Given the description of an element on the screen output the (x, y) to click on. 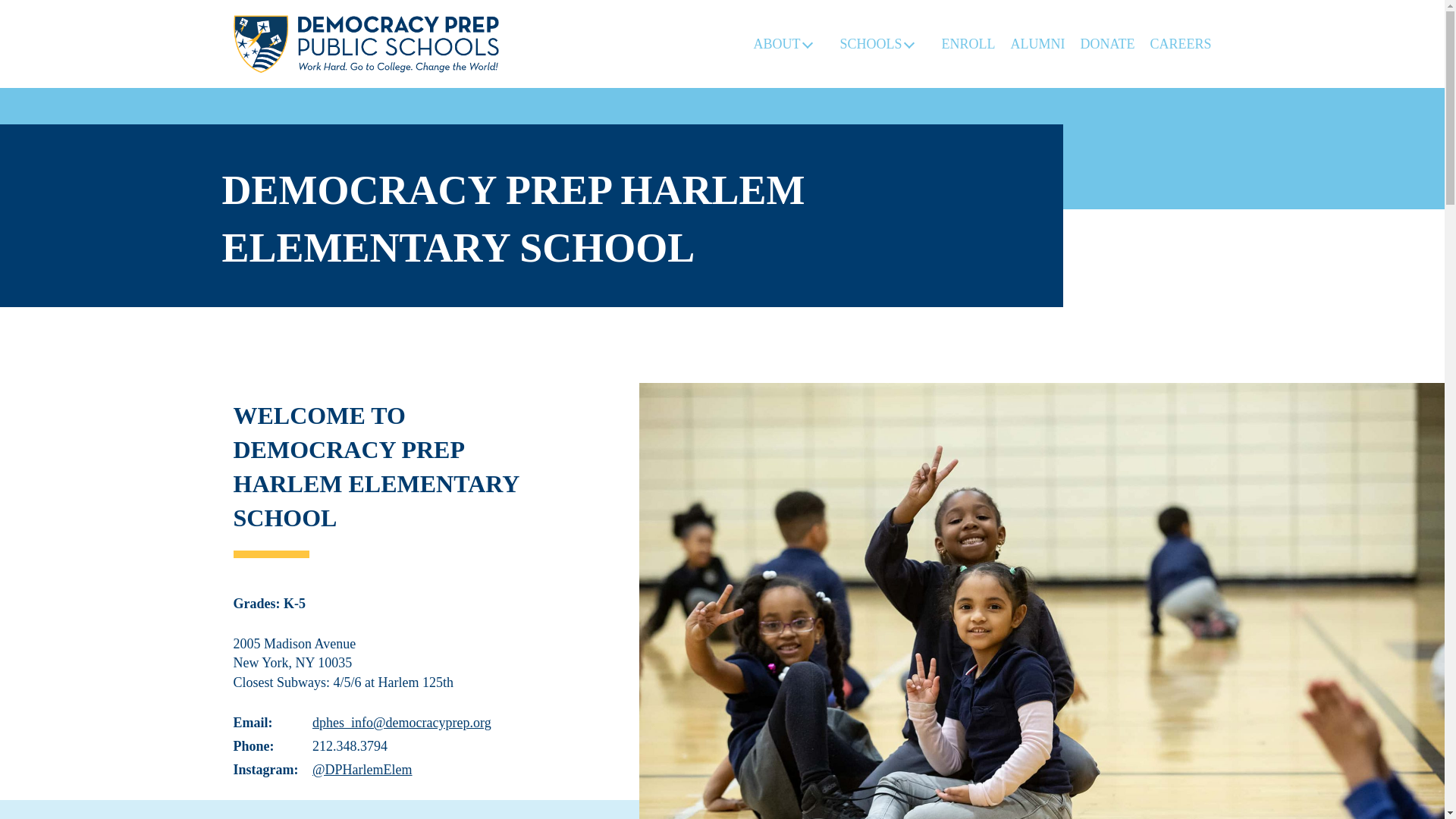
ALUMNI (1037, 43)
ABOUT (783, 43)
212.348.3794 (350, 745)
SCHOOLS (878, 43)
ENROLL (967, 43)
CAREERS (1180, 43)
DONATE (1107, 43)
